Given the description of an element on the screen output the (x, y) to click on. 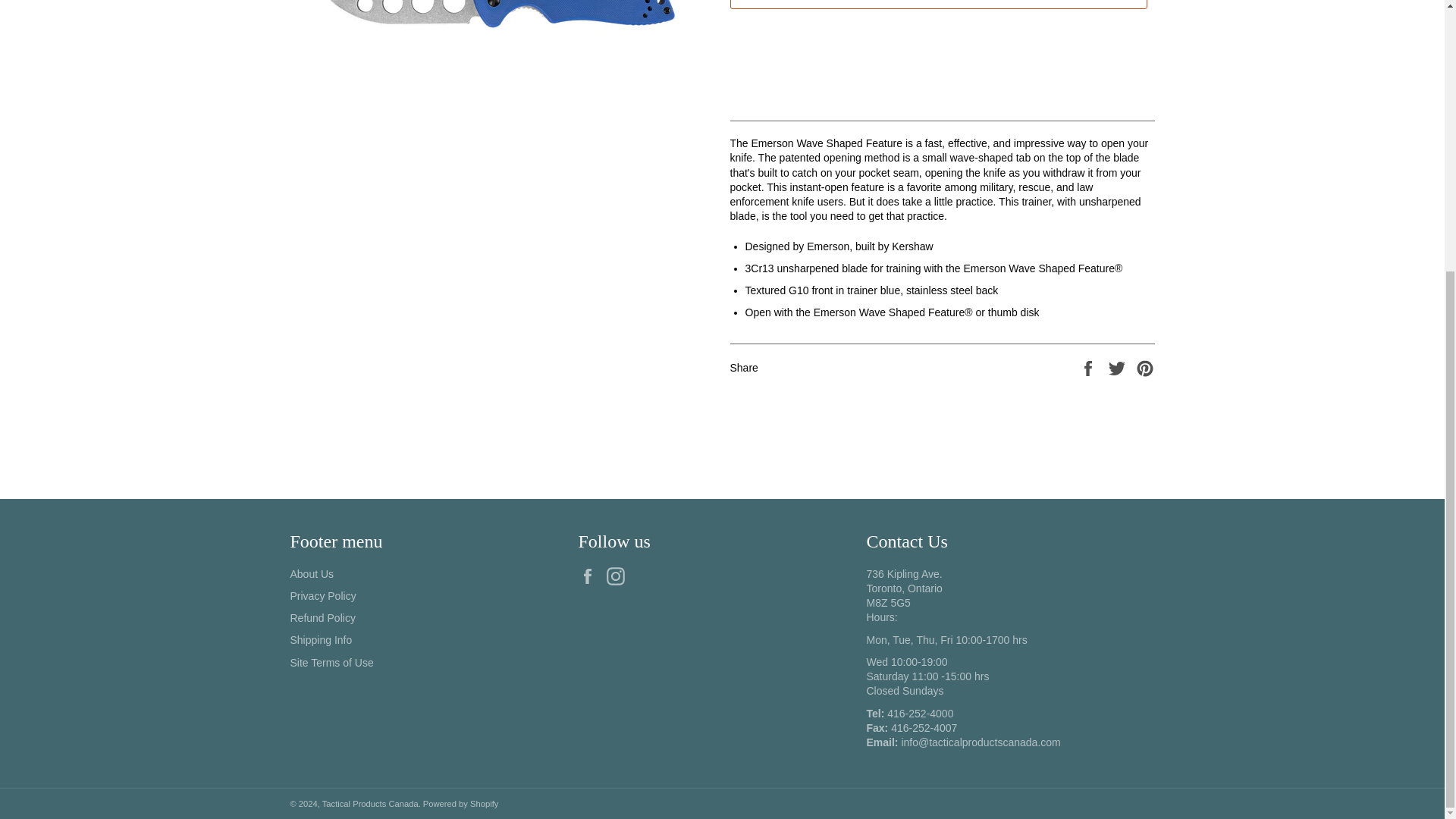
Facebook (591, 576)
Add to Cart (938, 4)
Privacy Policy (322, 595)
Pin on Pinterest (1144, 367)
Pin on Pinterest (1144, 367)
Share on Facebook (1089, 367)
About Us (311, 573)
416-252-4000 (919, 713)
Site Terms of Use (330, 662)
Tactical Products Canada on Facebook (591, 576)
